Given the description of an element on the screen output the (x, y) to click on. 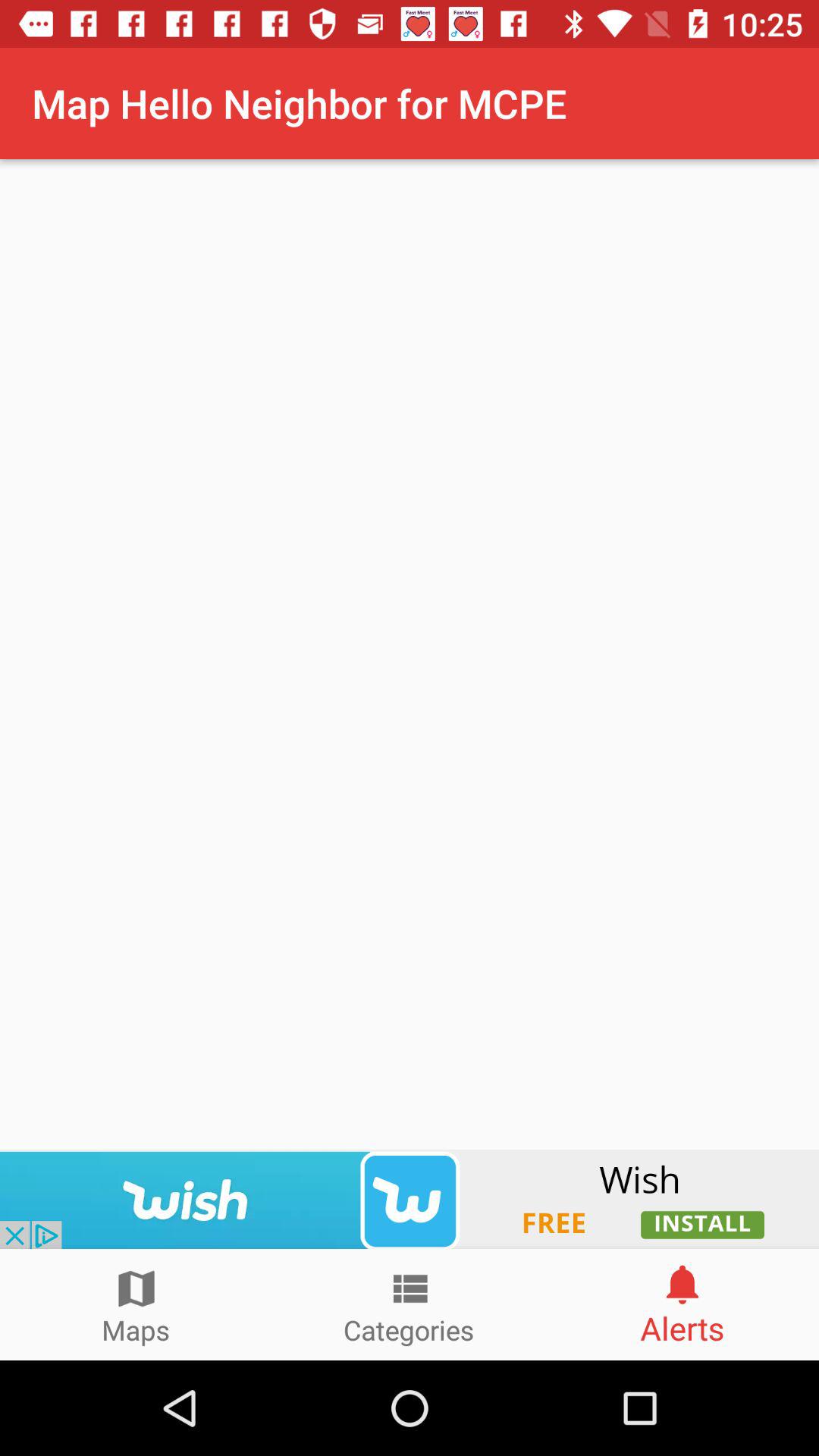
open wish in app store (409, 1198)
